Given the description of an element on the screen output the (x, y) to click on. 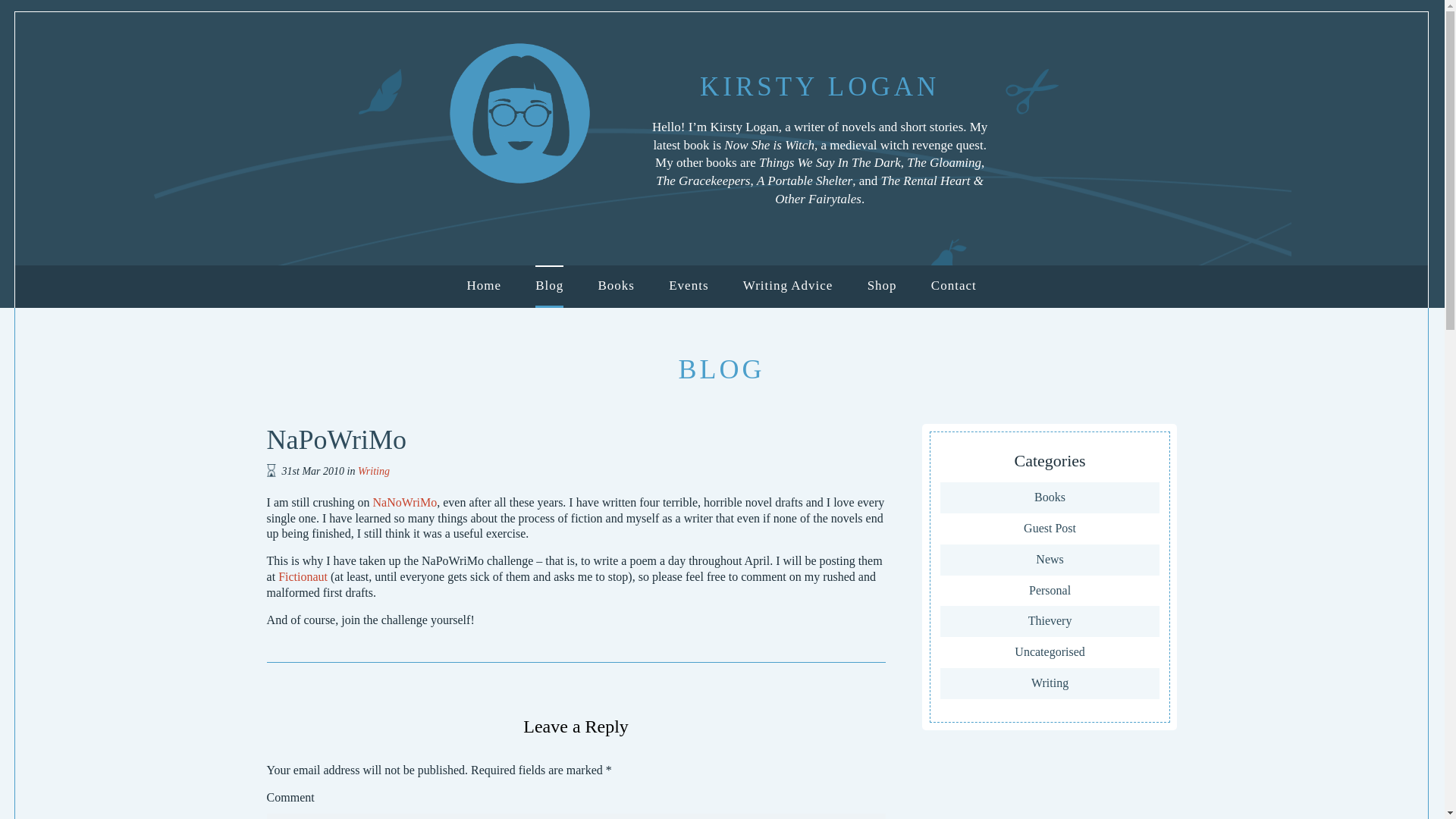
Books (616, 285)
Home (482, 285)
Guest Post (1049, 528)
Thievery (1049, 621)
NaNoWriMo (405, 502)
Writing (374, 471)
Writing Advice (787, 285)
Fictionaut (302, 576)
Uncategorised (1049, 652)
Writing (1049, 683)
Personal (1049, 590)
Contact (953, 285)
Books (1049, 497)
Events (687, 285)
News (1049, 559)
